Given the description of an element on the screen output the (x, y) to click on. 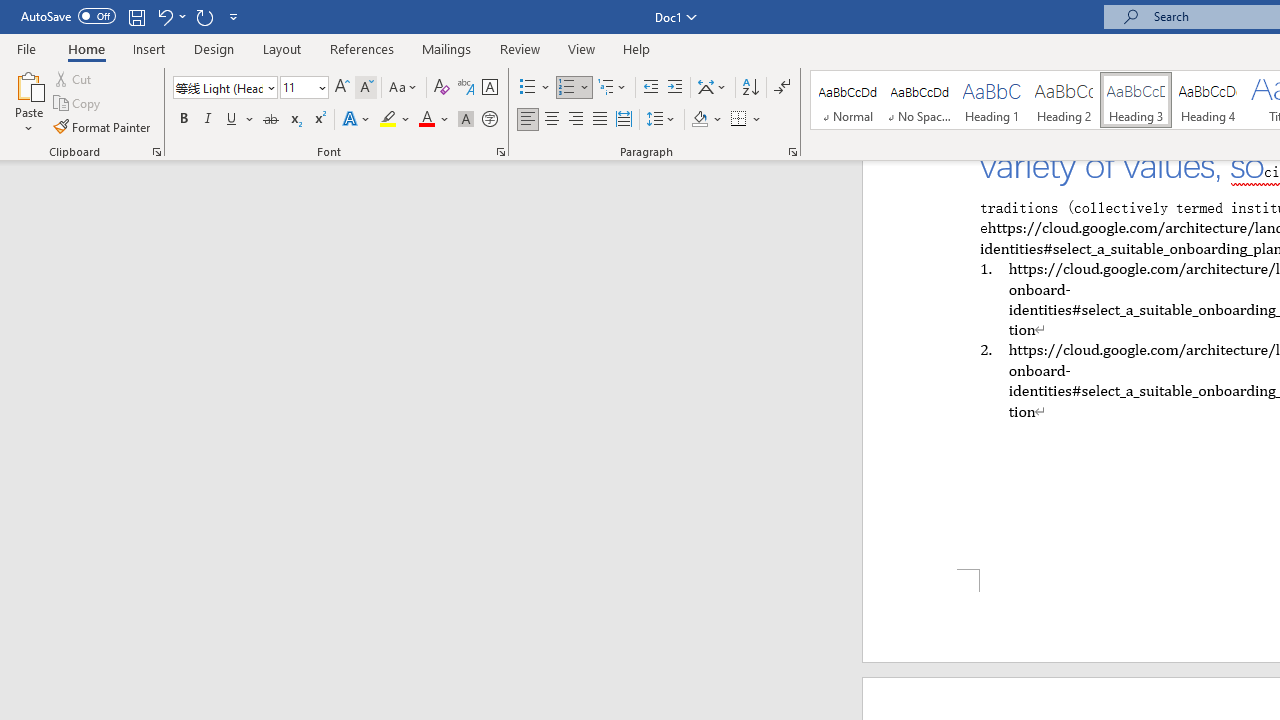
Superscript (319, 119)
Cut (73, 78)
